Given the description of an element on the screen output the (x, y) to click on. 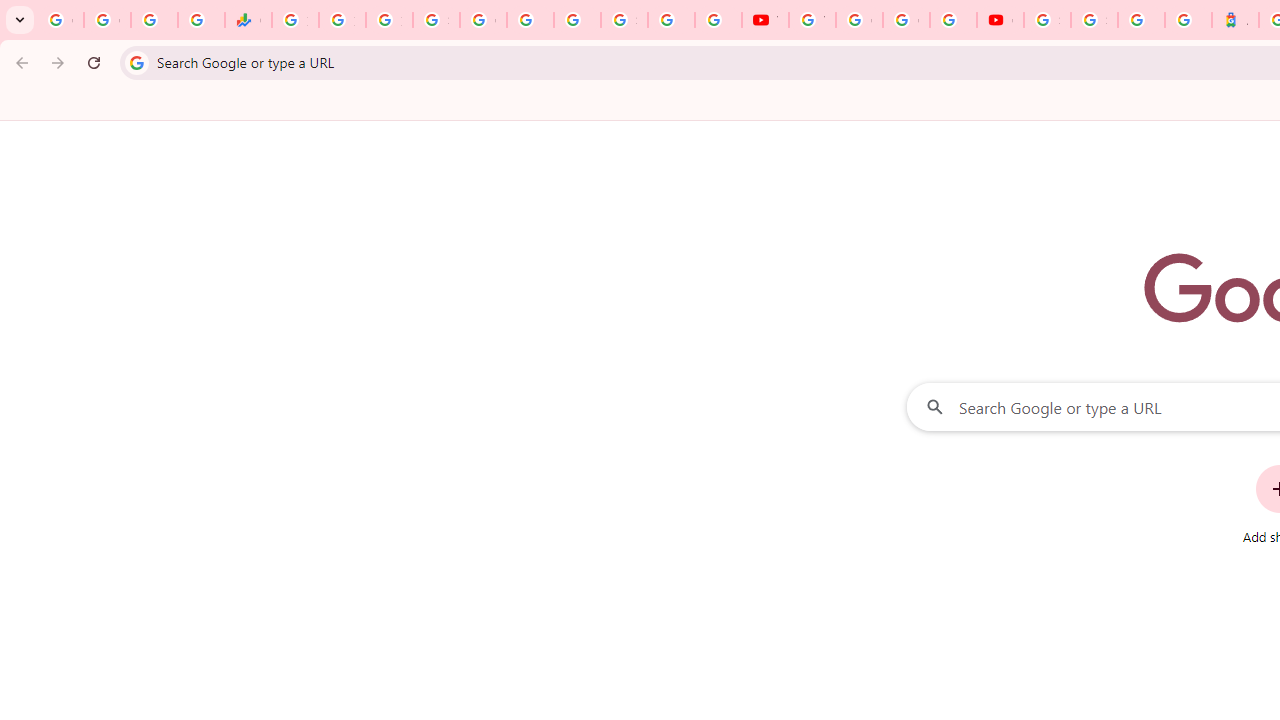
Sign in - Google Accounts (436, 20)
YouTube (765, 20)
Privacy Checkup (718, 20)
Atour Hotel - Google hotels (1235, 20)
